Given the description of an element on the screen output the (x, y) to click on. 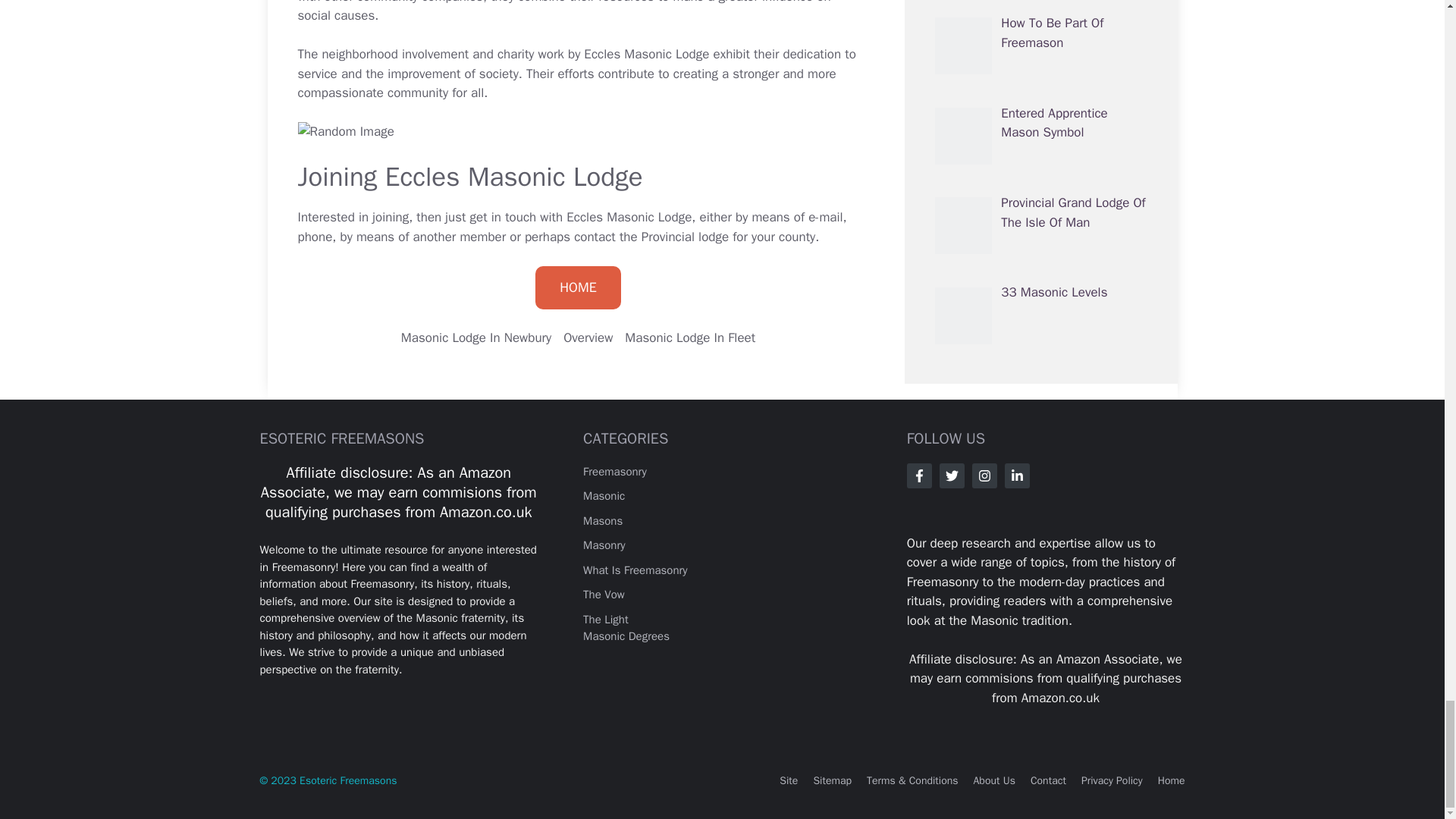
HOME (578, 287)
Masonic Lodge In Fleet (689, 337)
Overview (587, 337)
Masonic Lodge In Newbury (476, 337)
